Given the description of an element on the screen output the (x, y) to click on. 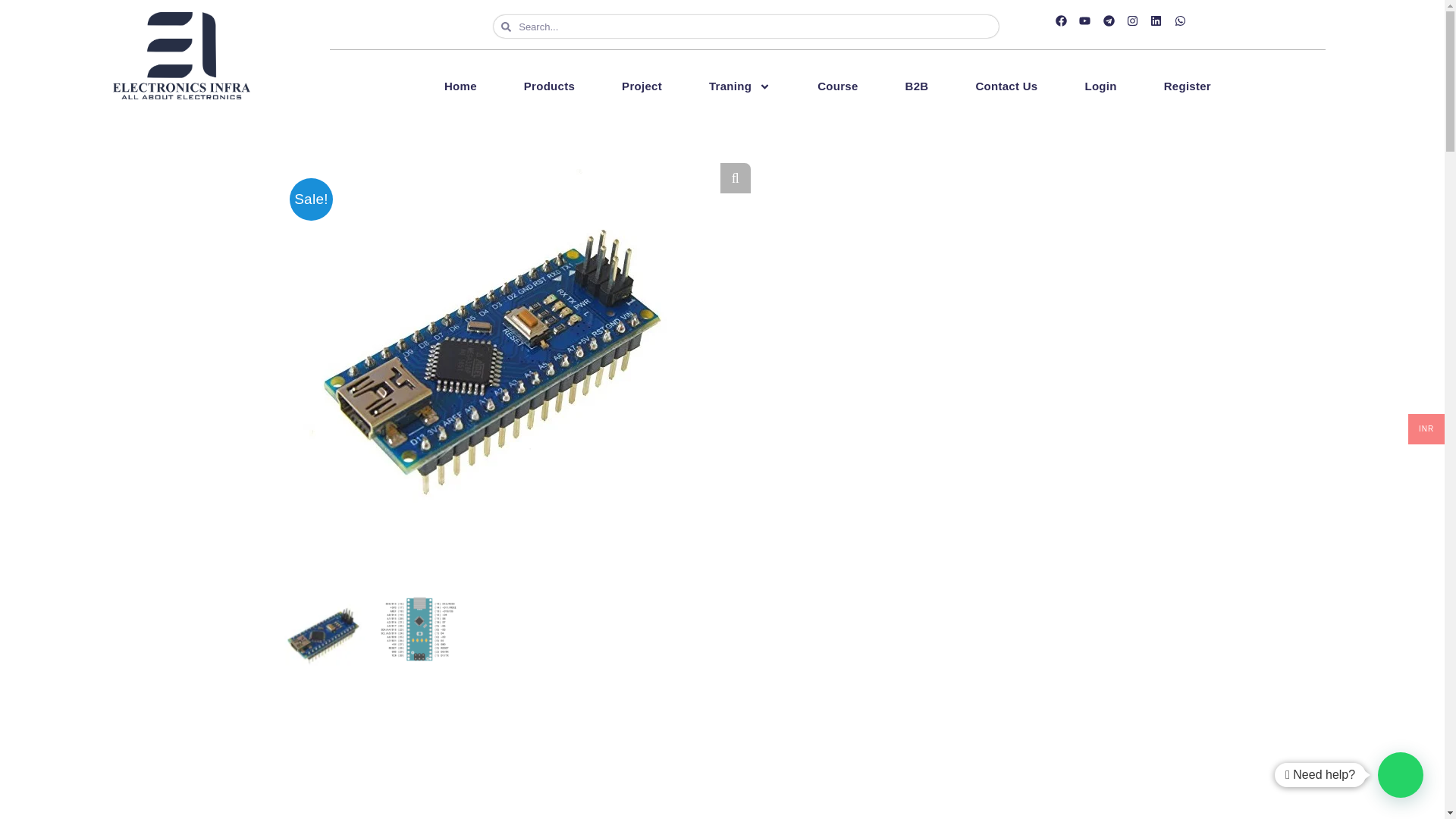
Project (642, 86)
Search (754, 26)
Traning (740, 86)
Course (837, 86)
Contact Us (1005, 86)
Products (548, 86)
B2B (916, 86)
Register (1186, 86)
Login (1099, 86)
